Given the description of an element on the screen output the (x, y) to click on. 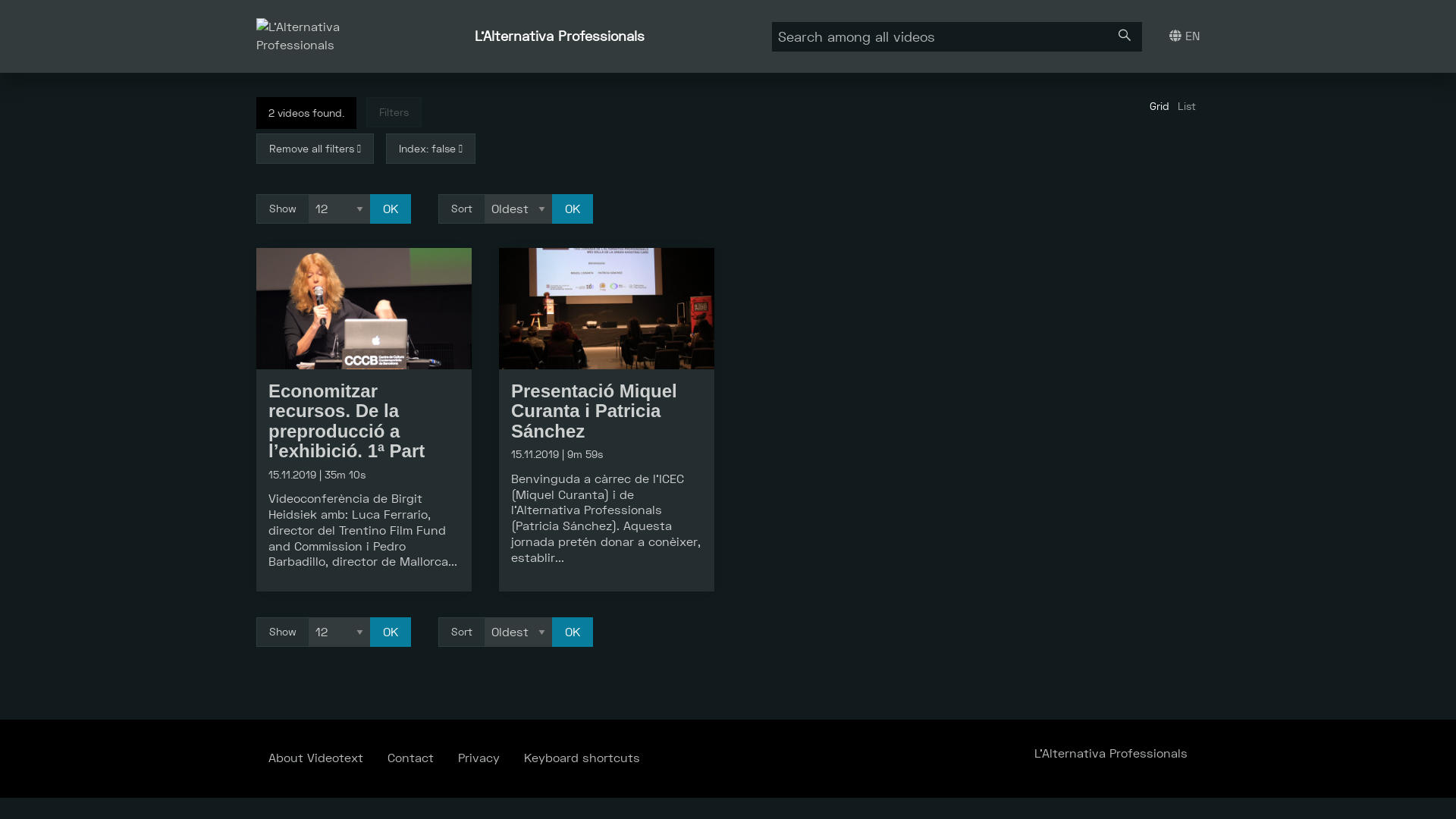
Keyboard shortcuts Element type: text (581, 757)
OK Element type: text (572, 208)
Filters Element type: text (393, 112)
OK Element type: text (572, 631)
About Videotext Element type: text (315, 757)
L'Alternativa Professionals Element type: text (559, 35)
OK Element type: text (390, 631)
Privacy Element type: text (478, 757)
Grid Element type: text (1159, 106)
List Element type: text (1186, 106)
Contact Element type: text (410, 757)
OK Element type: text (390, 208)
EN Element type: text (1184, 35)
L'Alternativa Professionals Element type: text (1110, 753)
